Given the description of an element on the screen output the (x, y) to click on. 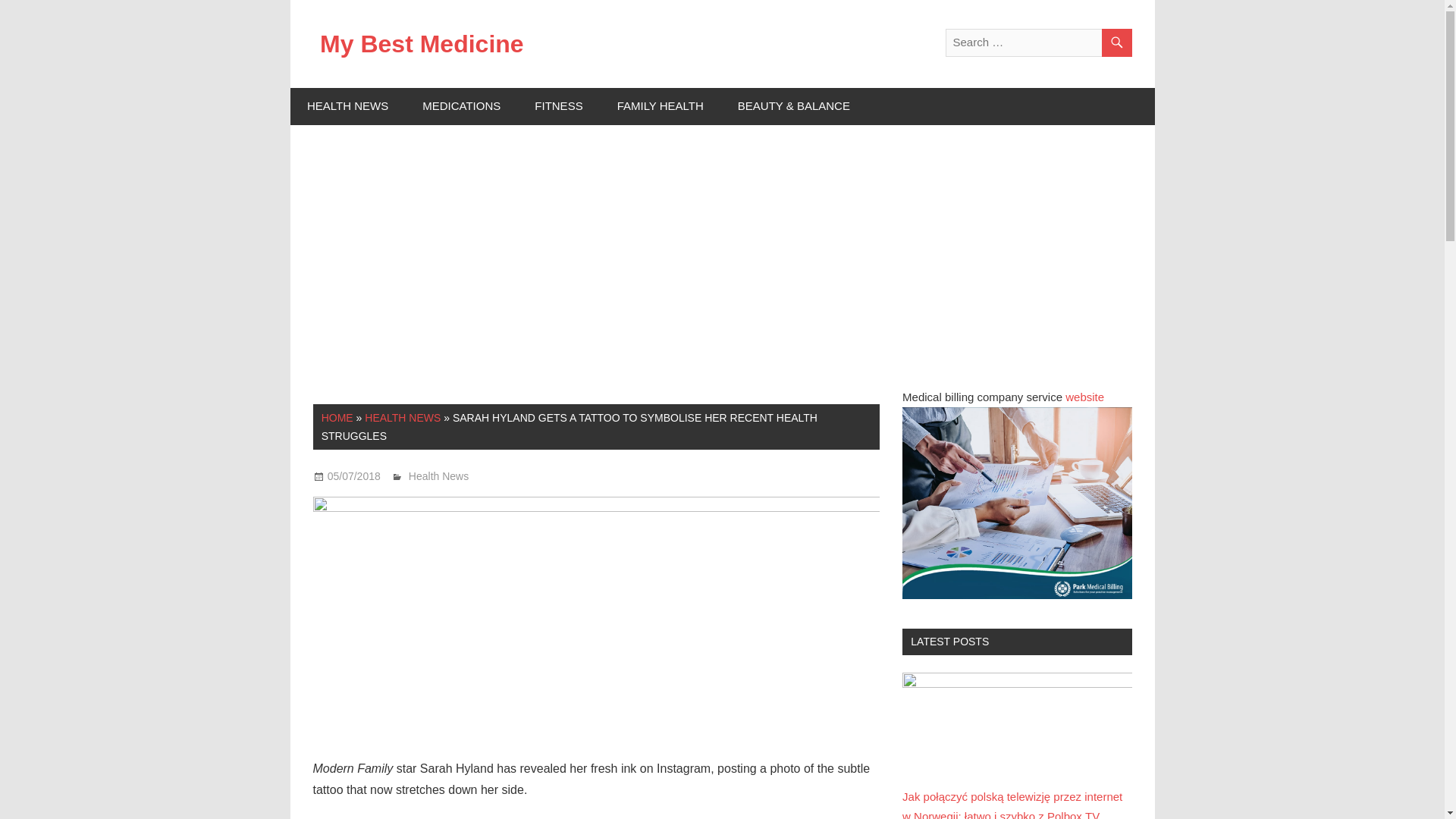
FAMILY HEALTH (659, 106)
HOME (337, 417)
My Best Medicine (422, 43)
17:49 (353, 476)
website (1084, 396)
HEALTH NEWS (346, 106)
Search for: (1037, 42)
HEALTH NEWS (403, 417)
Health News (438, 476)
FITNESS (558, 106)
MEDICATIONS (462, 106)
